Given the description of an element on the screen output the (x, y) to click on. 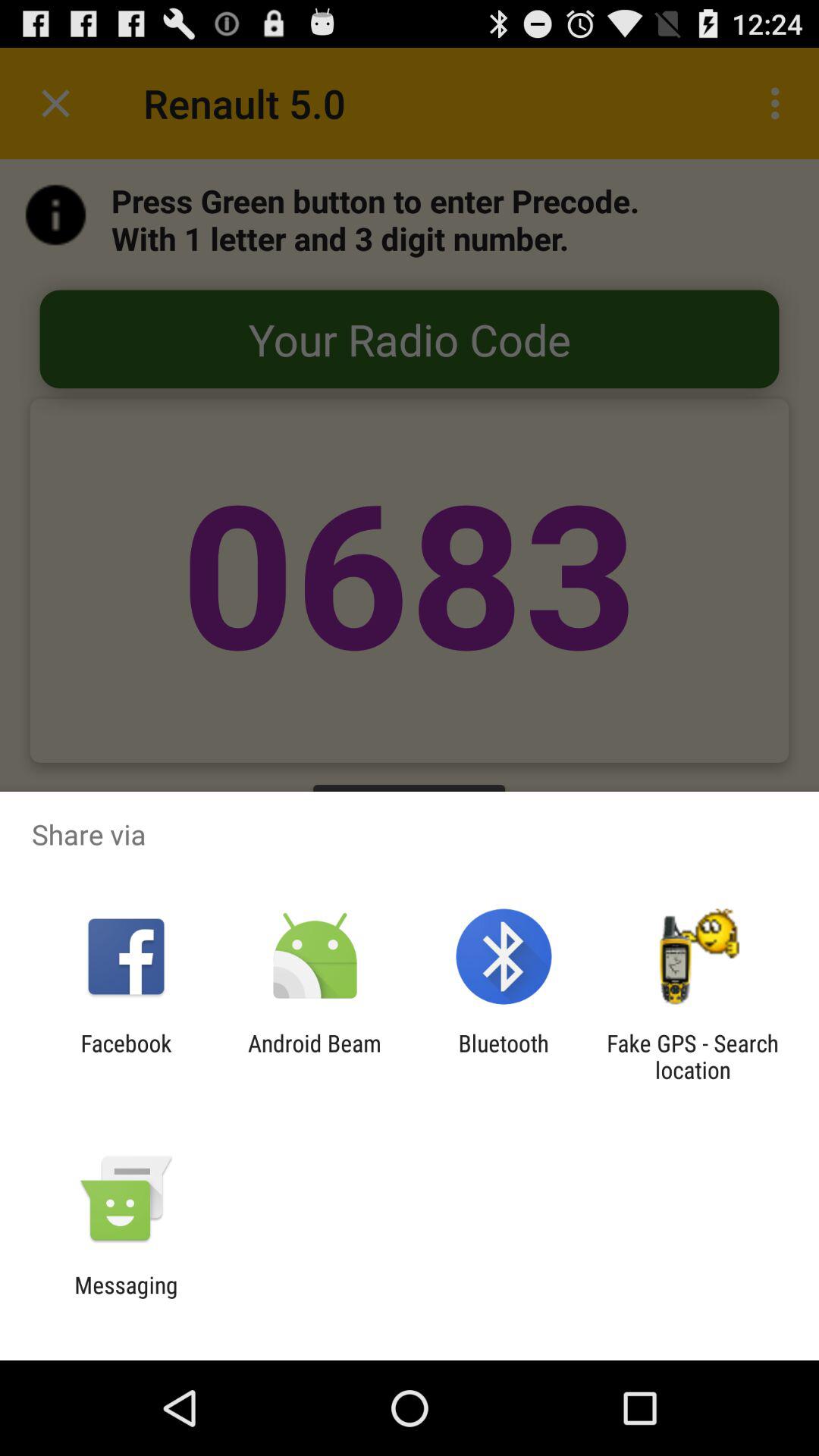
scroll to fake gps search (692, 1056)
